Given the description of an element on the screen output the (x, y) to click on. 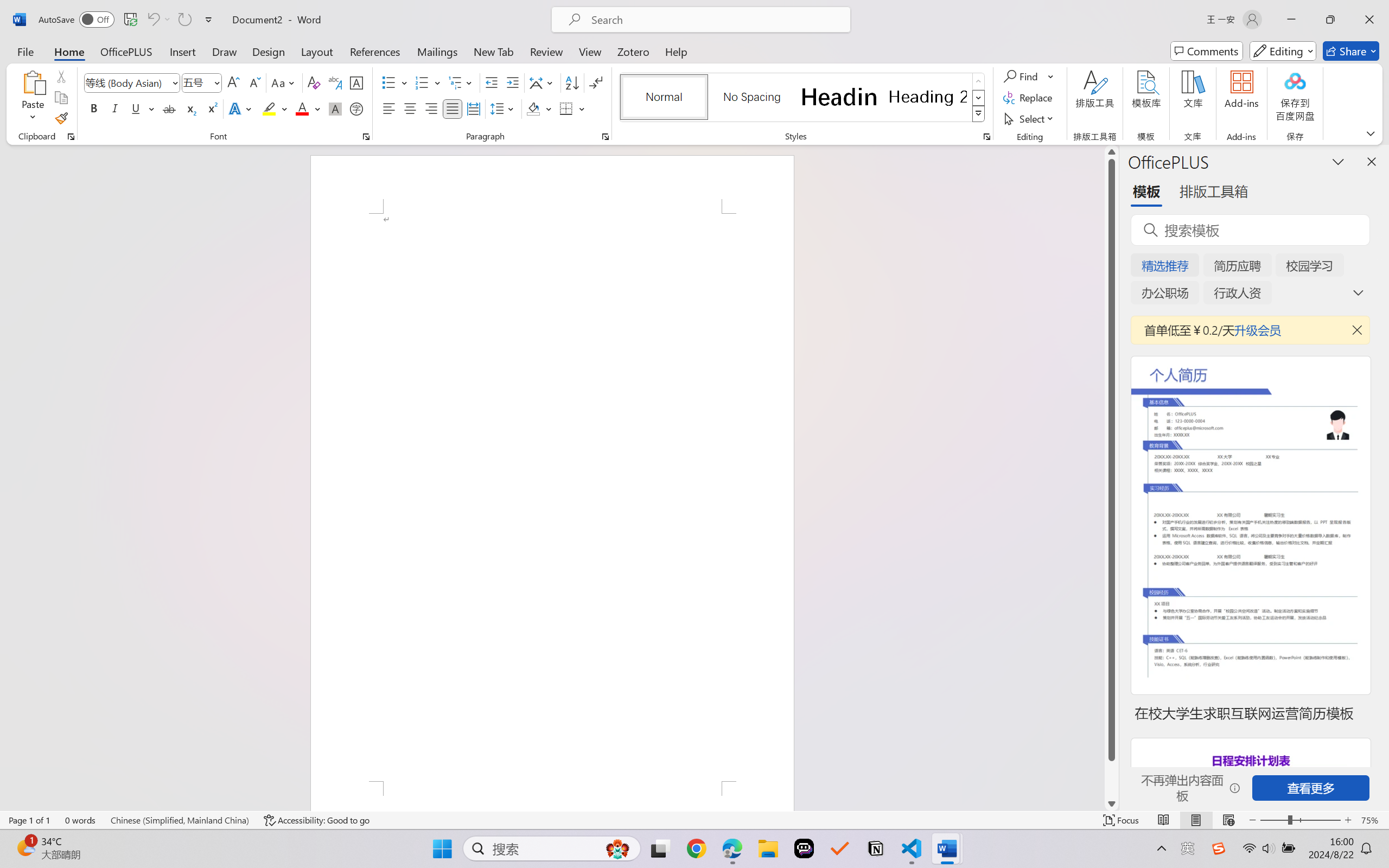
Character Border (356, 82)
Ribbon Display Options (1370, 132)
Focus  (1121, 819)
Row Down (978, 97)
Layout (316, 51)
File Tab (24, 51)
Zoom Out (1273, 819)
Strikethrough (169, 108)
Minimize (1291, 19)
Quick Access Toolbar (127, 19)
